Given the description of an element on the screen output the (x, y) to click on. 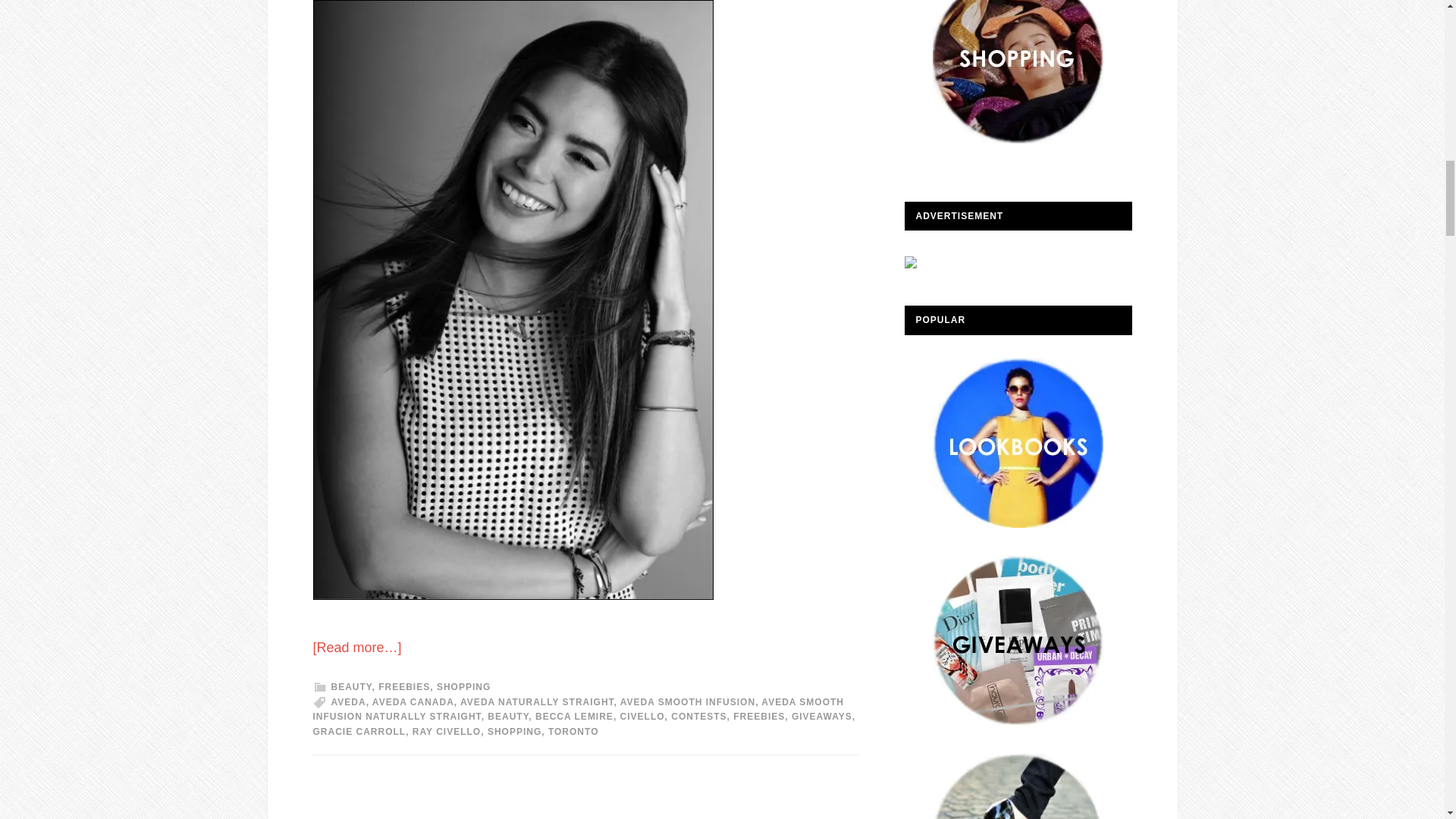
FREEBIES (758, 716)
BEAUTY (350, 686)
TORONTO (573, 731)
GIVEAWAYS (821, 716)
CIVELLO (642, 716)
SHOPPING (514, 731)
AVEDA NATURALLY STRAIGHT (536, 701)
AVEDA SMOOTH INFUSION NATURALLY STRAIGHT (578, 709)
CONTESTS (698, 716)
AVEDA SMOOTH INFUSION (687, 701)
